Given the description of an element on the screen output the (x, y) to click on. 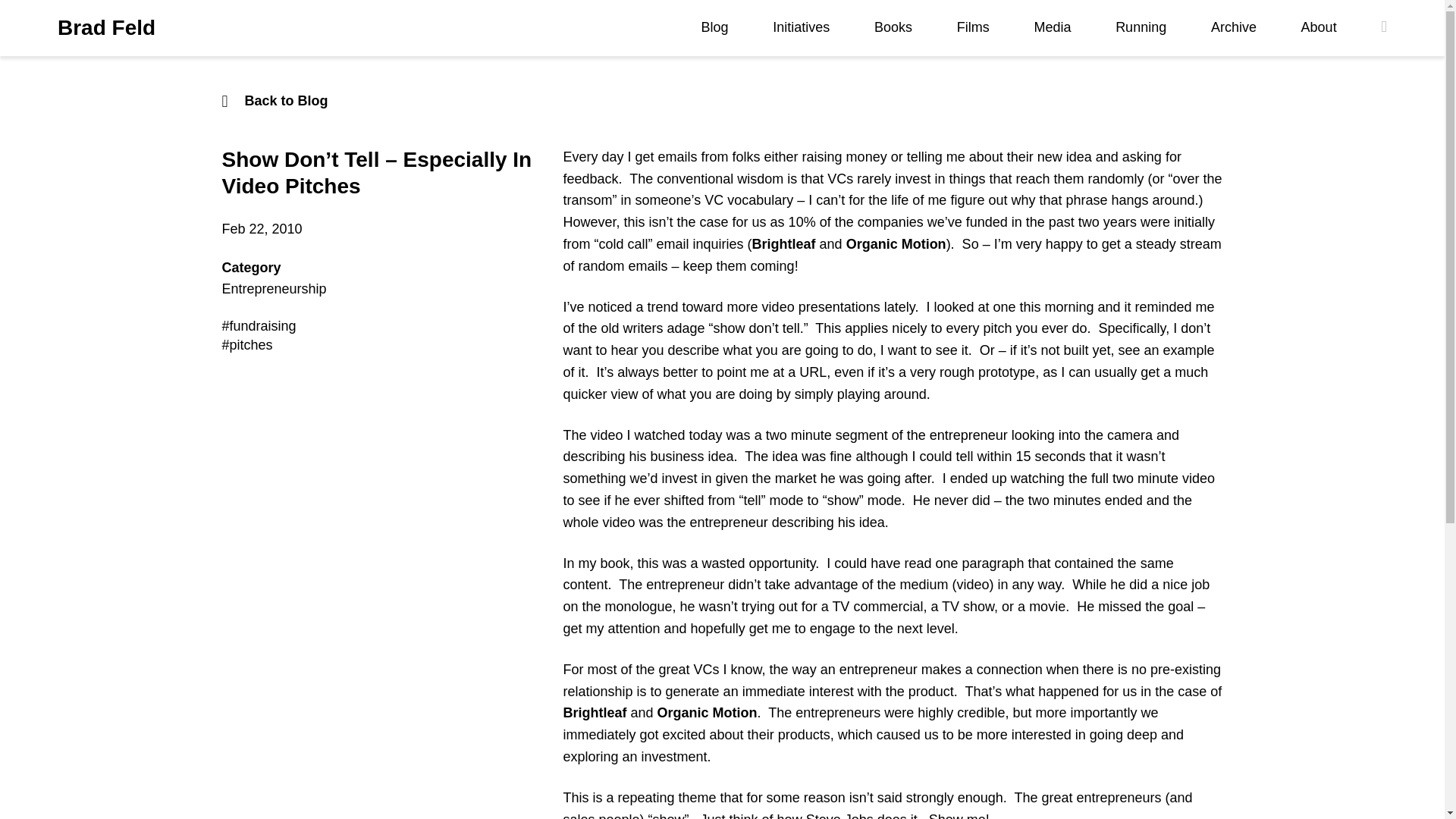
Brad Feld (106, 27)
Films (973, 27)
Initiatives (801, 27)
Books (893, 27)
Organic Motion (895, 243)
Brightleaf (594, 712)
Entrepreneurship (273, 288)
Organic Motion (707, 712)
Running (1140, 27)
Brightleaf (783, 243)
Media (1051, 27)
Blog (715, 27)
Archive (1233, 27)
Back to Blog (722, 101)
About (1318, 27)
